Given the description of an element on the screen output the (x, y) to click on. 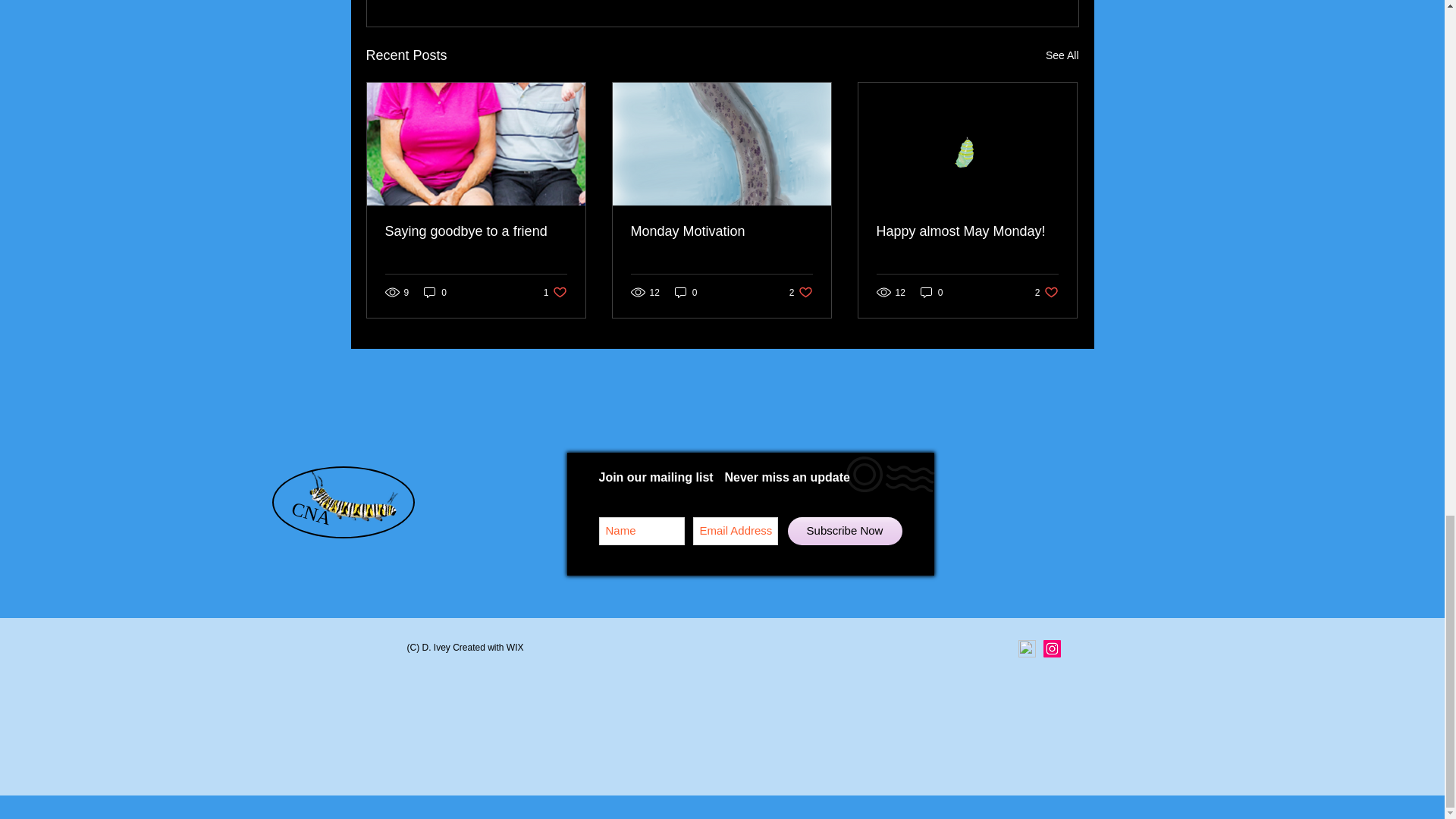
0 (800, 292)
Monday Motivation (435, 292)
See All (721, 231)
0 (555, 292)
0 (1061, 55)
Saying goodbye to a friend (931, 292)
Happy almost May Monday! (685, 292)
